Given the description of an element on the screen output the (x, y) to click on. 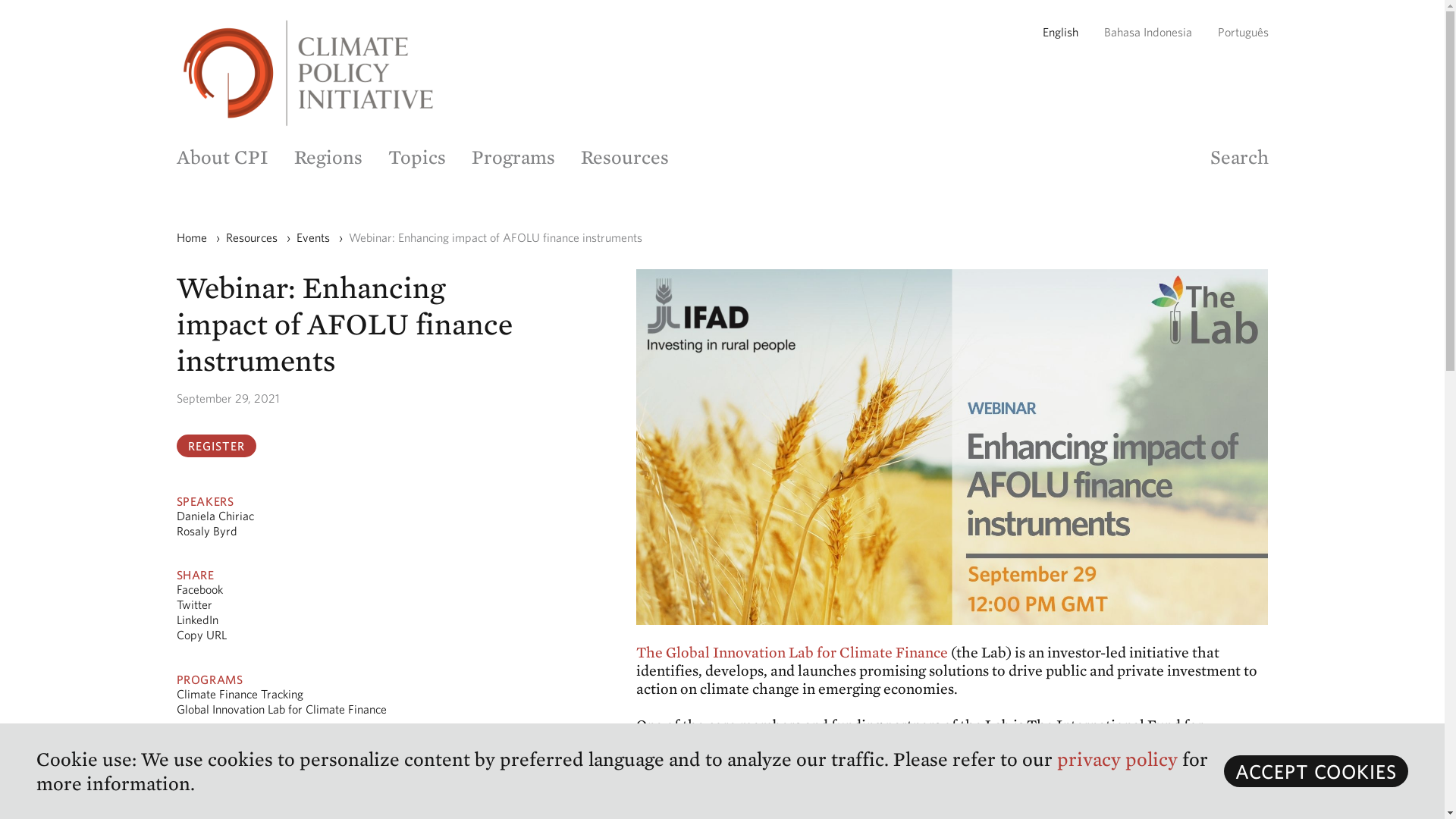
Bahasa Indonesia (1147, 31)
English (1059, 31)
